Given the description of an element on the screen output the (x, y) to click on. 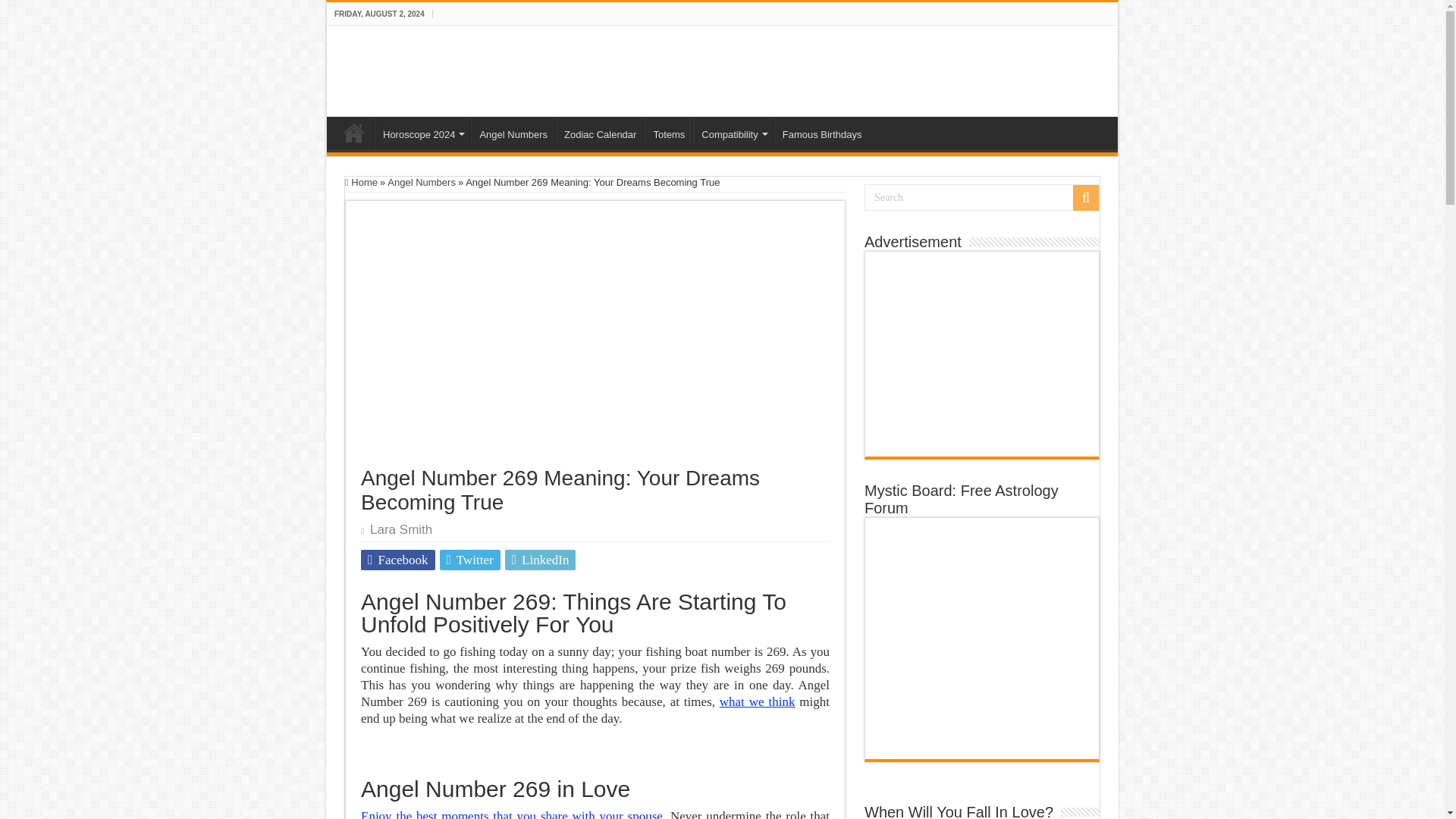
Enjoy the best moments that you share with your spouse (511, 814)
Angel Numbers (512, 132)
Compatibility (733, 132)
Totems (669, 132)
Advertisement (981, 353)
Home (361, 182)
Lara Smith (400, 529)
Angel Numbers (421, 182)
Sun Signs (354, 132)
Horoscope 2024 (422, 132)
what we think (756, 701)
Sun Signs (405, 67)
Zodiac Calendar (599, 132)
Horoscope 2024 (422, 132)
Home (354, 132)
